Given the description of an element on the screen output the (x, y) to click on. 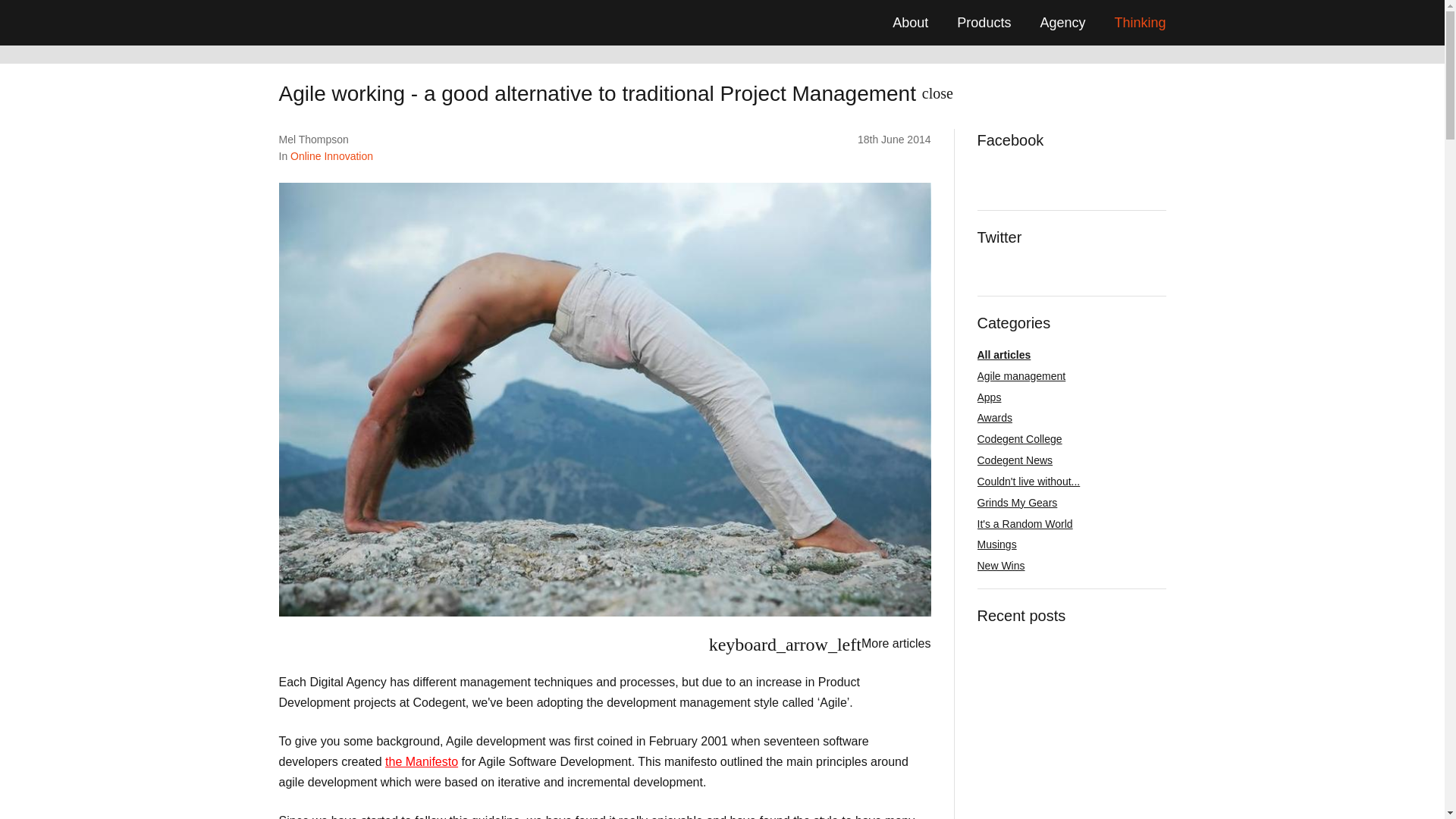
Products (983, 22)
Agency (1061, 22)
Apps (988, 397)
It's a Random World (1023, 523)
close (937, 91)
Grinds My Gears (1016, 502)
About (910, 22)
Agile management (1020, 376)
Musings (996, 544)
Couldn't live without... (1028, 481)
